Given the description of an element on the screen output the (x, y) to click on. 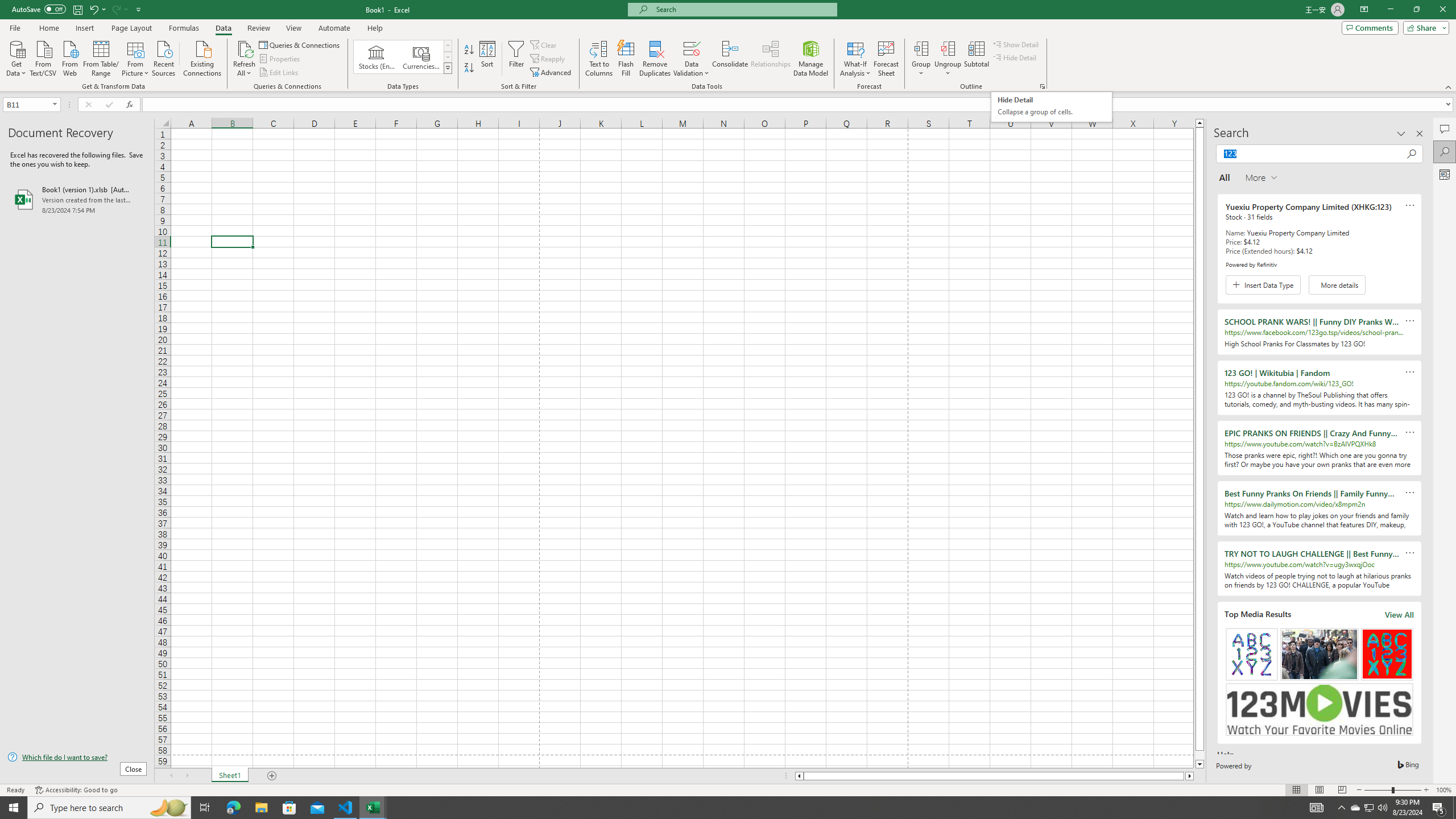
Consolidate... (1051, 106)
